Given the description of an element on the screen output the (x, y) to click on. 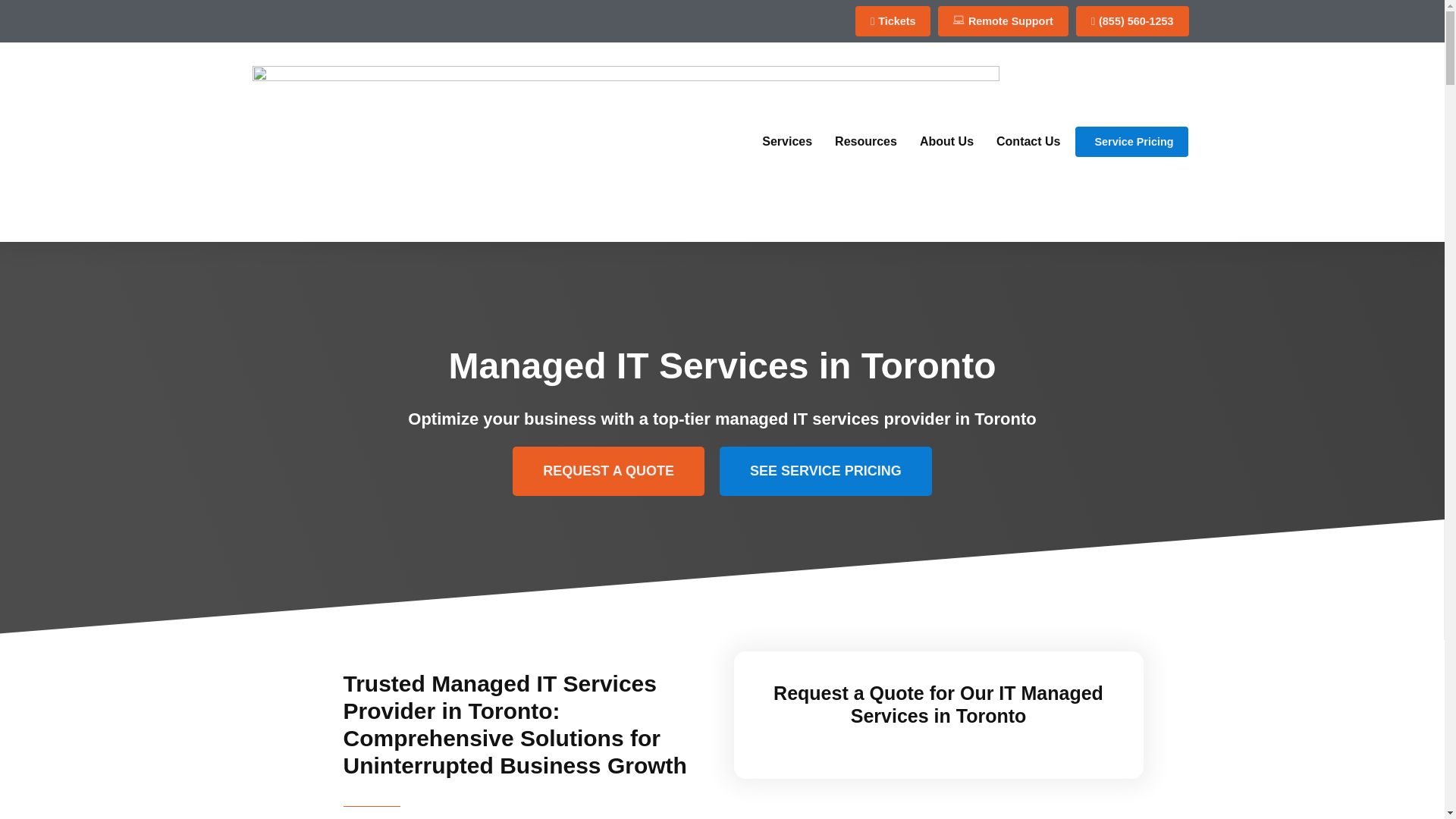
Services (786, 141)
Resources (865, 141)
Contact Us (1027, 141)
About Us (947, 141)
Tickets (893, 20)
Remote Support (1002, 20)
